Given the description of an element on the screen output the (x, y) to click on. 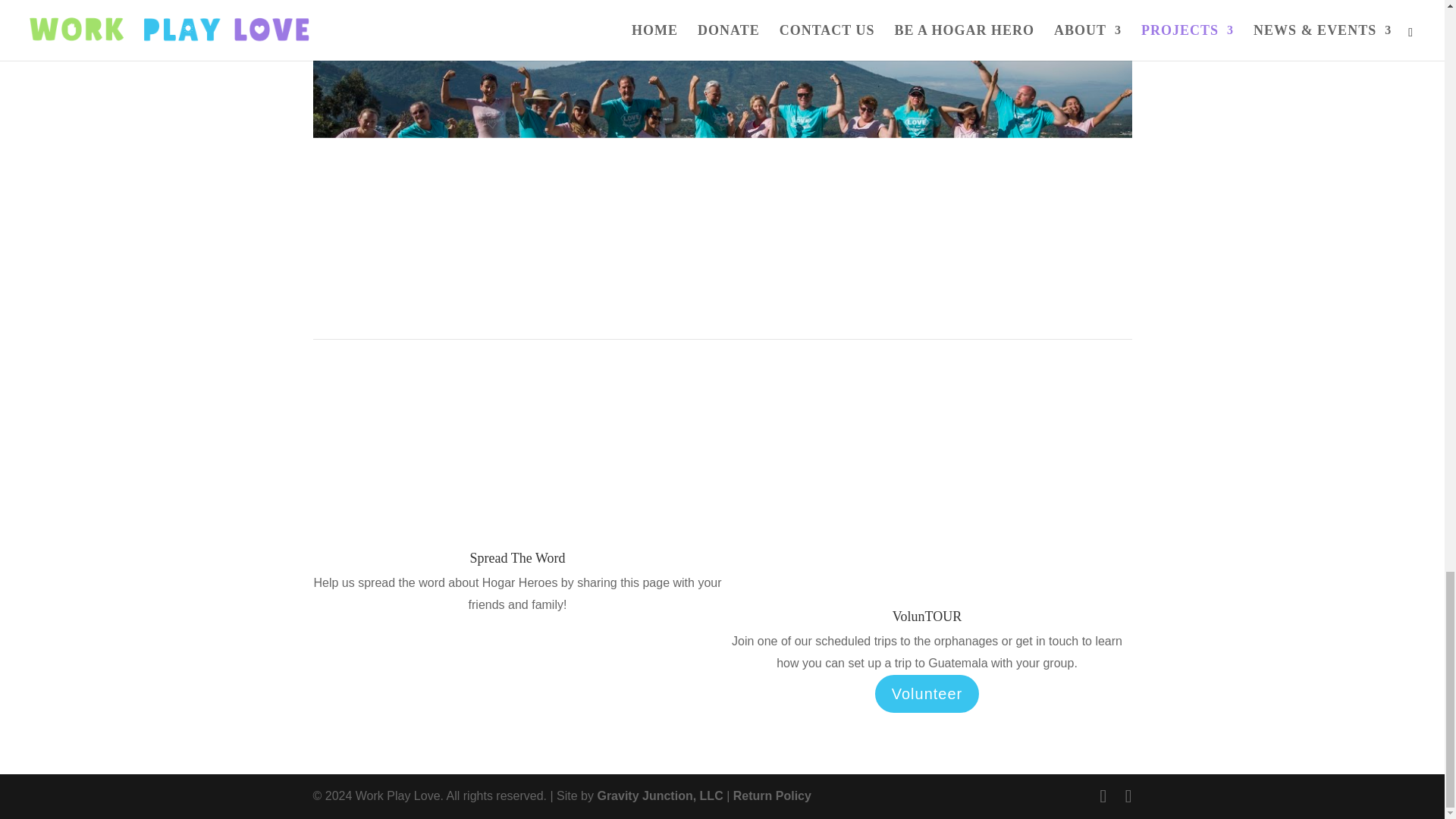
Follow on Youtube (486, 628)
Follow on Facebook (517, 628)
Volunteer (927, 693)
Follow on Instagram (547, 628)
Gravity Junction, LLC (659, 795)
Return Policy (771, 795)
